Given the description of an element on the screen output the (x, y) to click on. 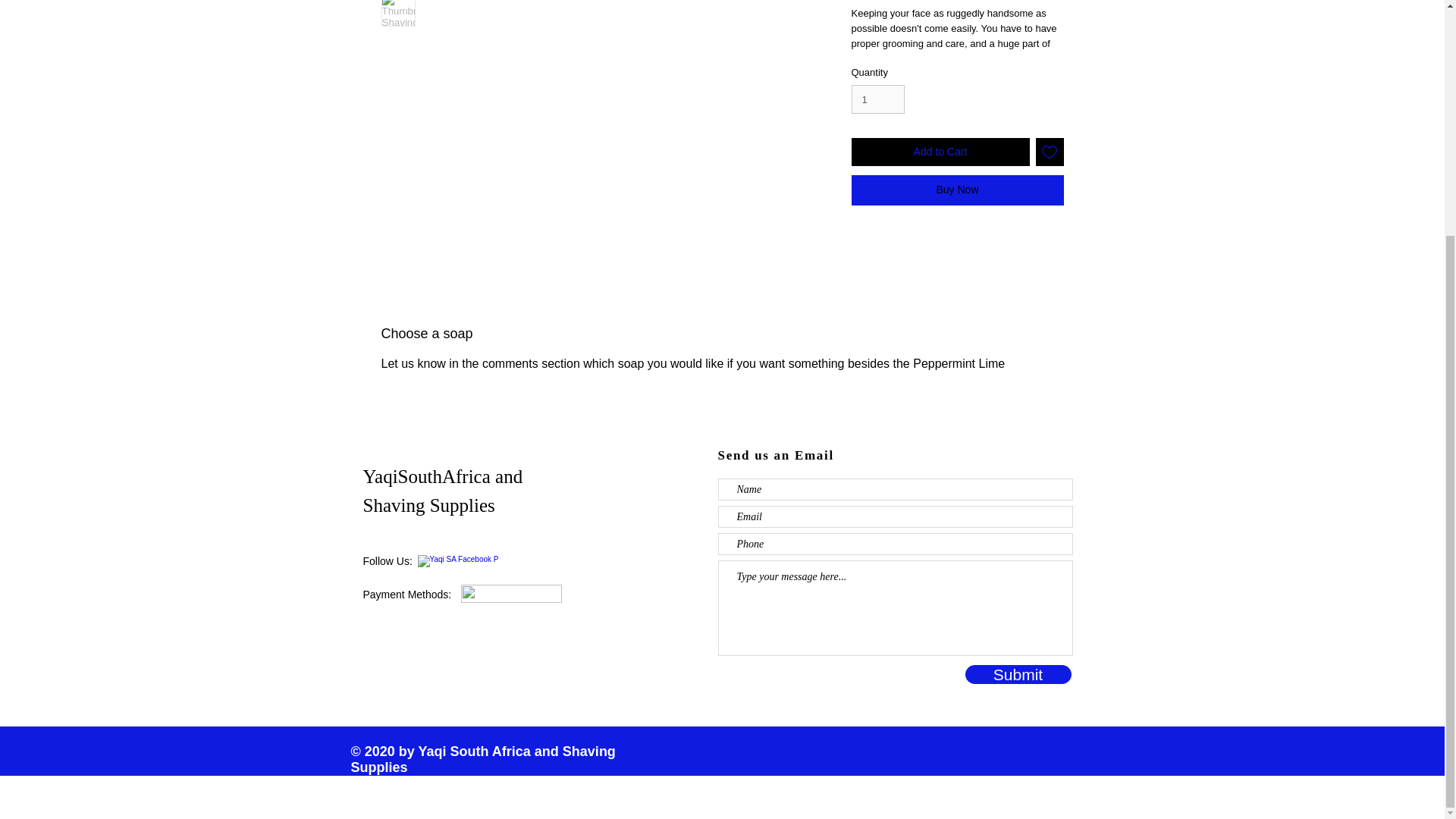
YaqiSouthAfrica and Shaving Supplies (442, 490)
Add to Cart (939, 152)
1 (877, 99)
Submit (1016, 674)
Buy Now (956, 190)
